Given the description of an element on the screen output the (x, y) to click on. 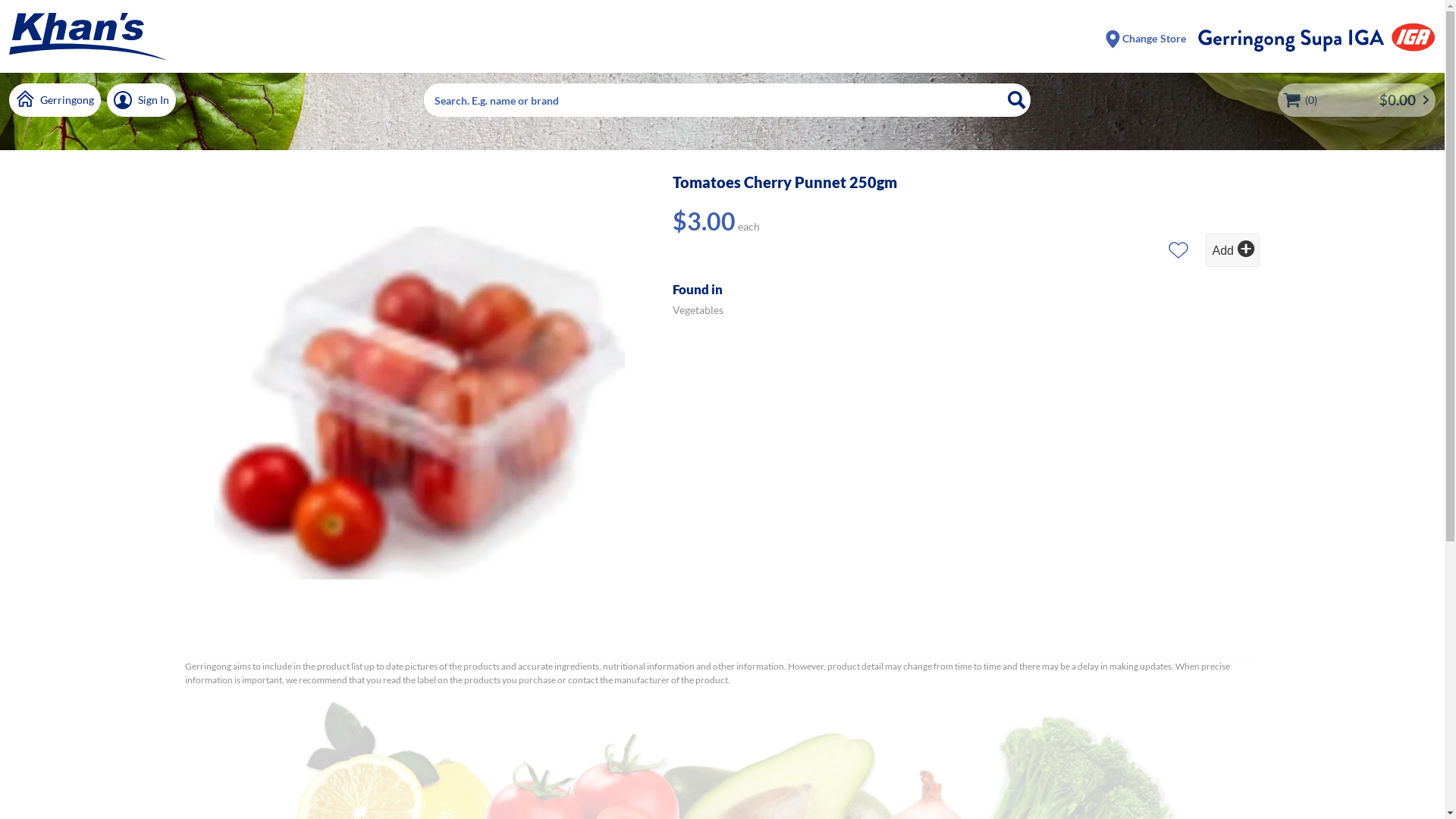
Vegetables Element type: text (697, 309)
Sign In Element type: text (140, 99)
(0)
$0.00 Element type: text (1356, 99)
Gerringong Element type: text (54, 99)
Add+ Element type: text (1232, 249)
Search Element type: hover (1015, 99)
Change Store Element type: text (1144, 37)
